Given the description of an element on the screen output the (x, y) to click on. 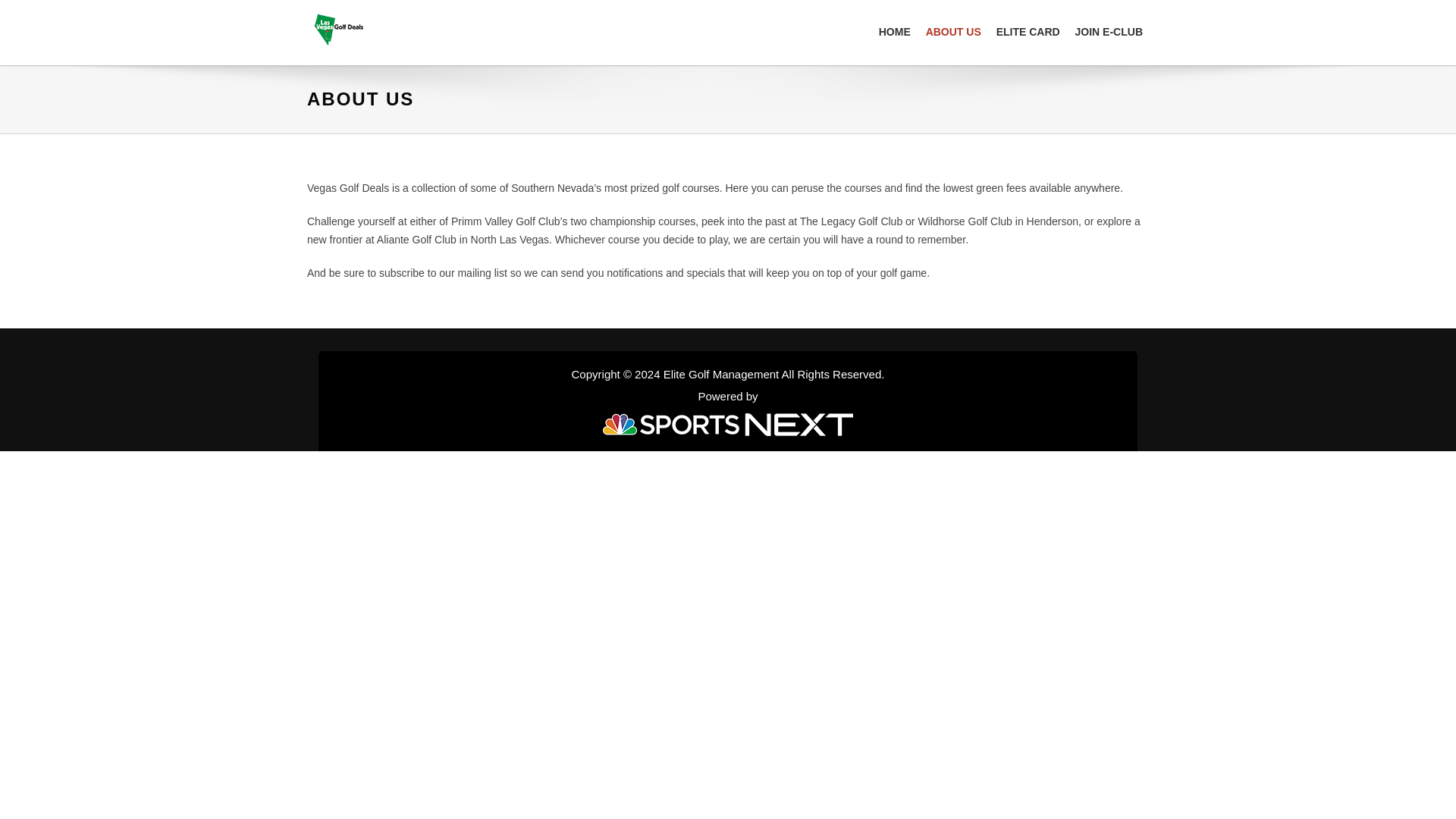
HOME (894, 32)
JOIN E-CLUB (1108, 32)
ELITE CARD (1027, 32)
ABOUT US (953, 32)
